Given the description of an element on the screen output the (x, y) to click on. 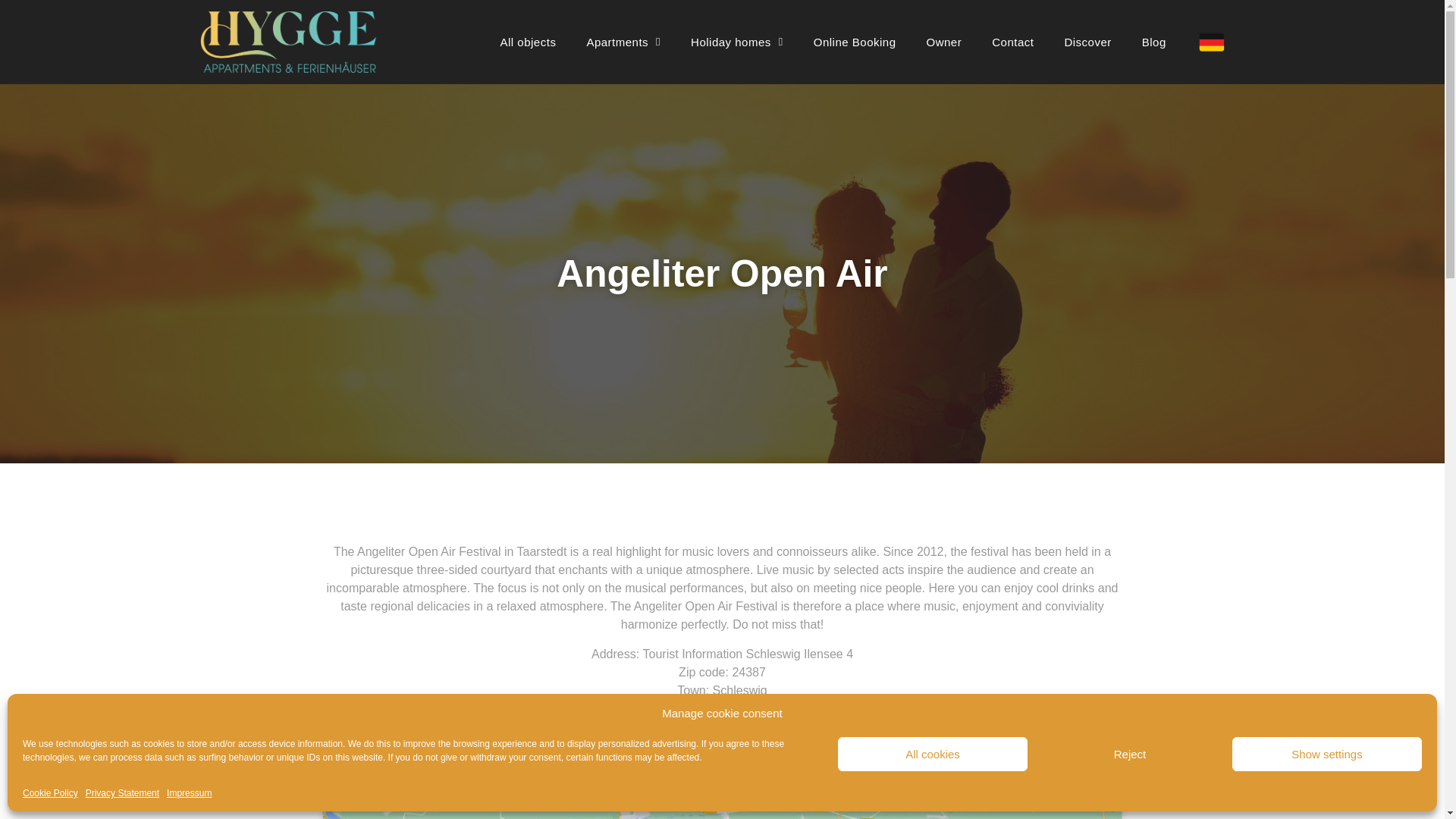
Online Booking (854, 42)
Show settings (1326, 754)
Cookie Policy (50, 793)
Reject (1129, 754)
All cookies (932, 754)
Discover (1086, 42)
Blog (1153, 42)
Impressum (189, 793)
Contact (1012, 42)
Owner (943, 42)
All objects (528, 42)
Apartments (622, 42)
Holiday homes (736, 42)
Privacy Statement (121, 793)
